Given the description of an element on the screen output the (x, y) to click on. 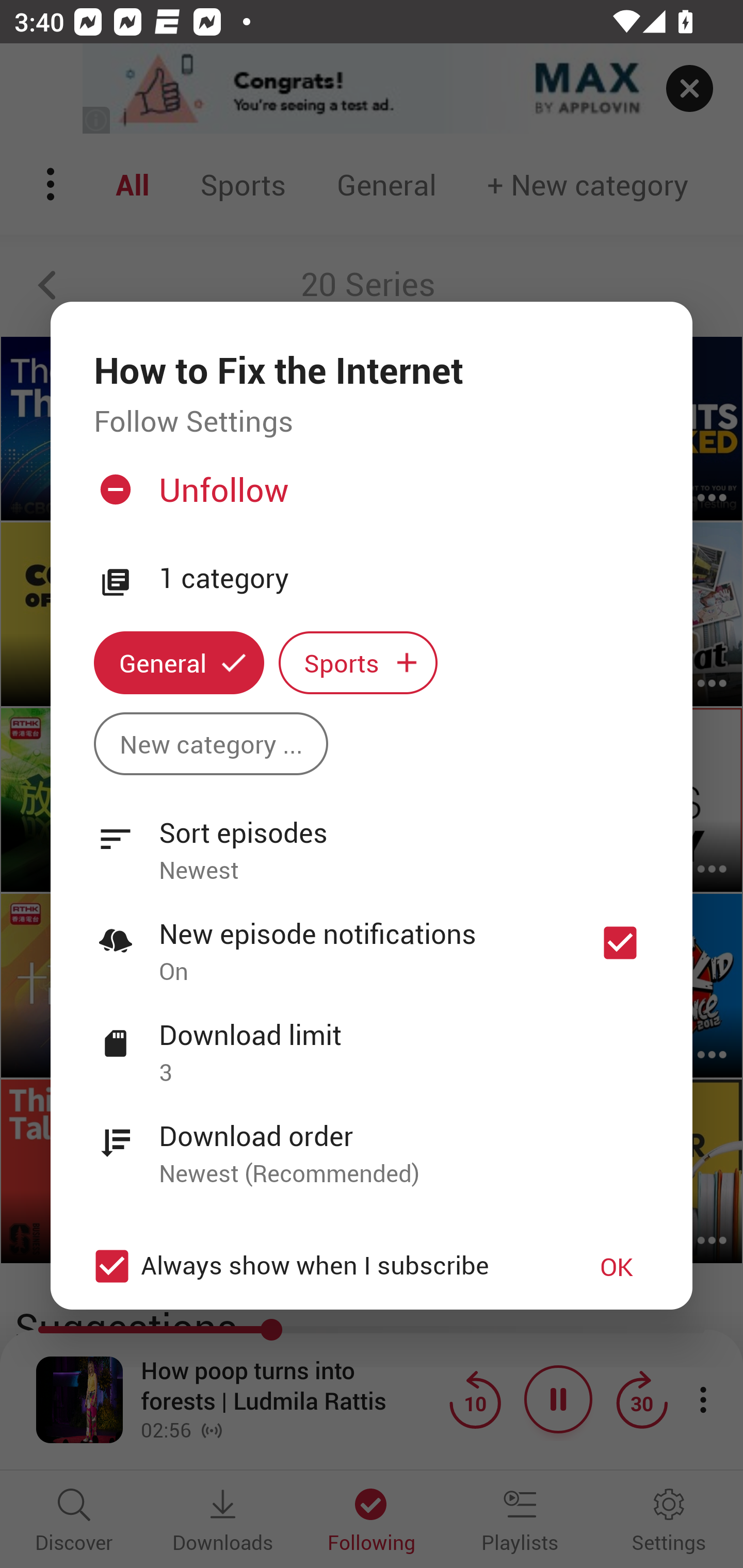
Unfollow (369, 496)
1 category (404, 578)
General (178, 662)
Sports (357, 662)
New category ... (210, 742)
Sort episodes Newest (371, 840)
New episode notifications (620, 943)
Download limit 3 (371, 1042)
Download order Newest (Recommended) (371, 1143)
OK (616, 1266)
Always show when I subscribe (320, 1266)
